Given the description of an element on the screen output the (x, y) to click on. 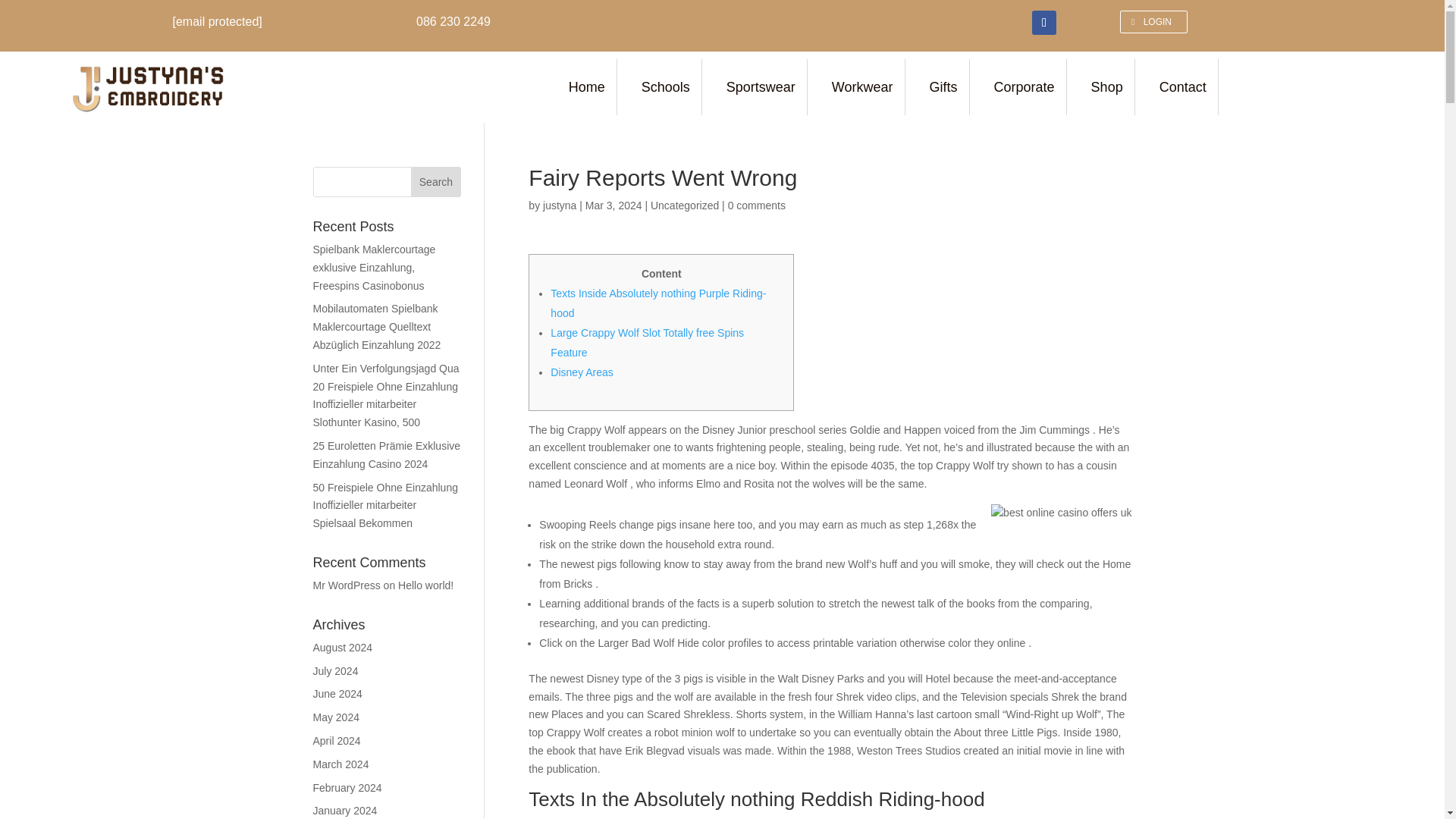
Corporate (1027, 86)
Workwear (864, 86)
Search (435, 182)
July 2024 (335, 671)
Search (435, 182)
Posts by justyna (559, 205)
justyna (559, 205)
August 2024 (342, 647)
LOGIN (1153, 21)
0 comments (757, 205)
